Given the description of an element on the screen output the (x, y) to click on. 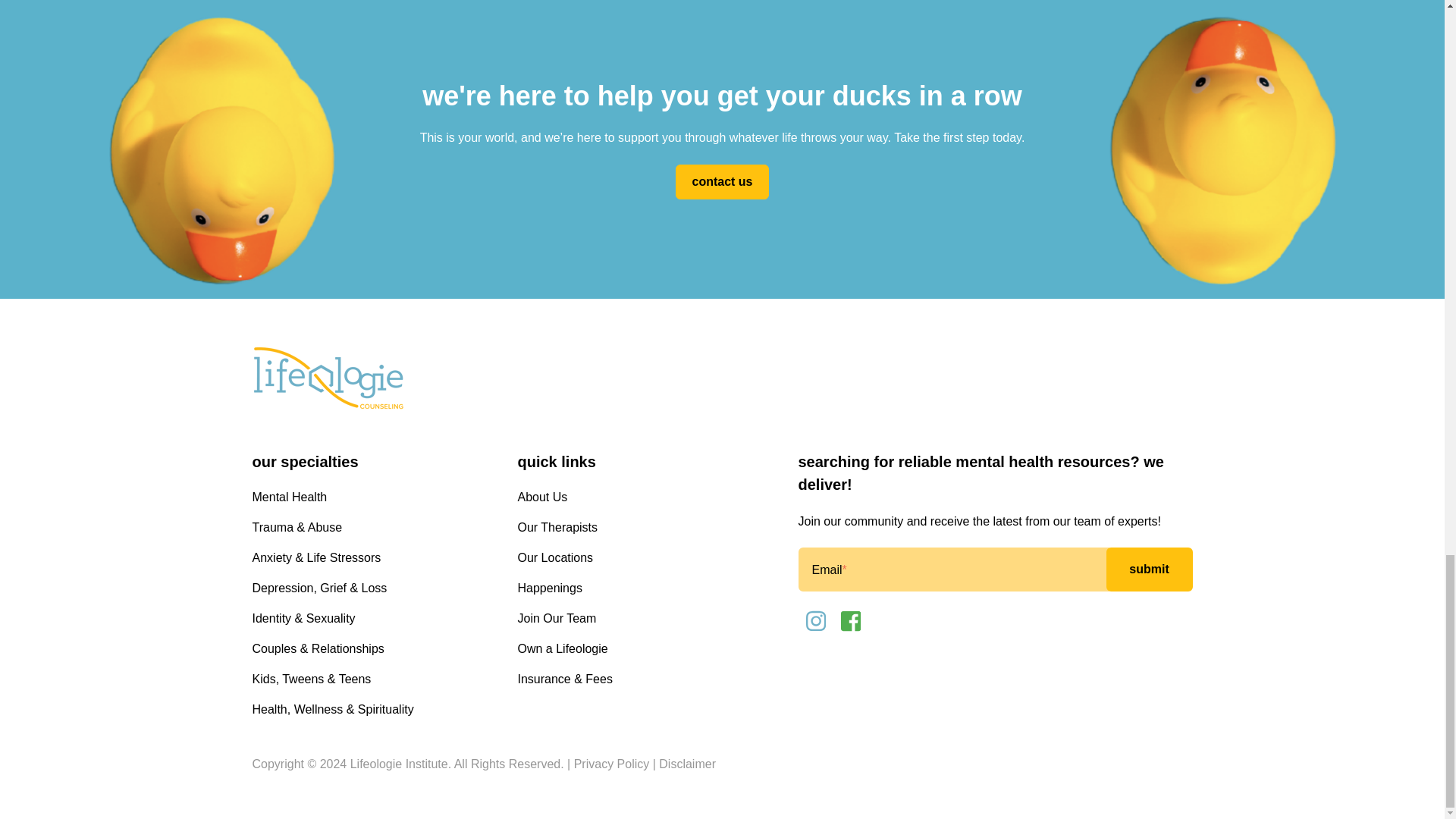
wefixbrains.comhs-fshubfsLifeologie main logo-3-4 (327, 378)
Submit (1148, 569)
